Given the description of an element on the screen output the (x, y) to click on. 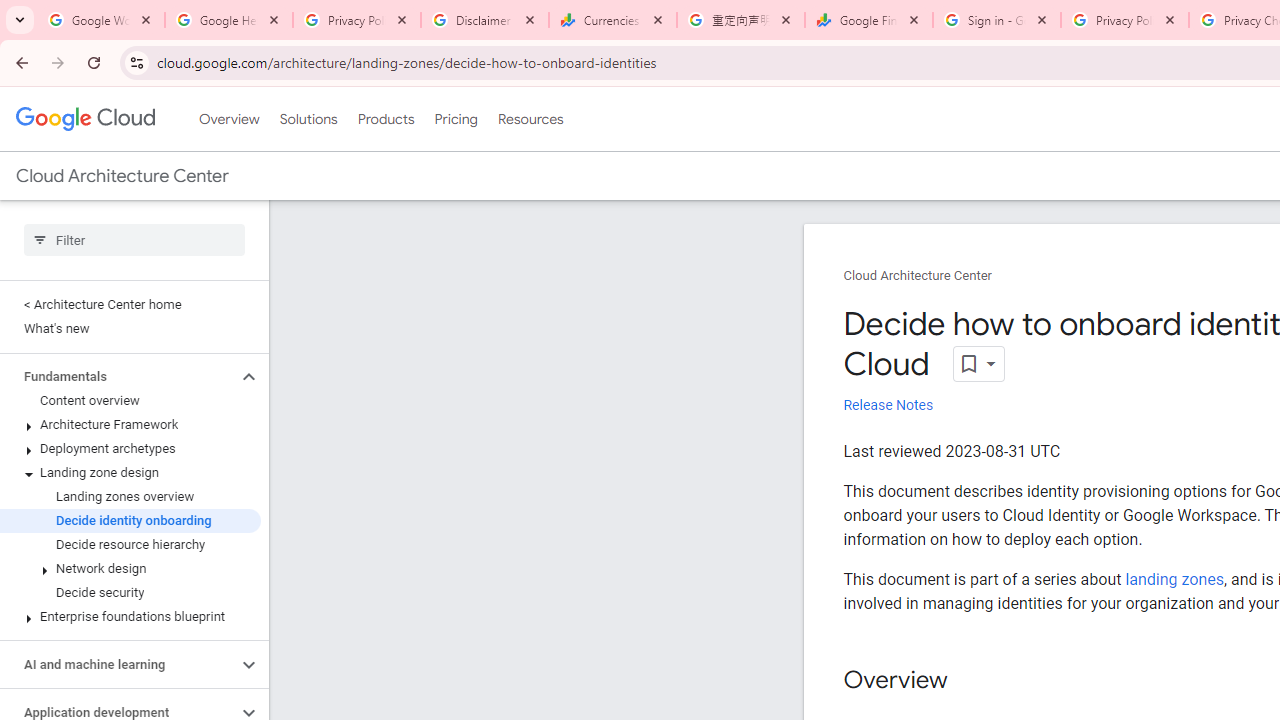
Products (385, 119)
Google Workspace Admin Community (101, 20)
< Architecture Center home (130, 304)
Enterprise foundations blueprint (130, 616)
Sign in - Google Accounts (997, 20)
Solutions (308, 119)
AI and machine learning (118, 664)
Network design (130, 569)
What's new (130, 328)
Cloud Architecture Center (917, 276)
